Given the description of an element on the screen output the (x, y) to click on. 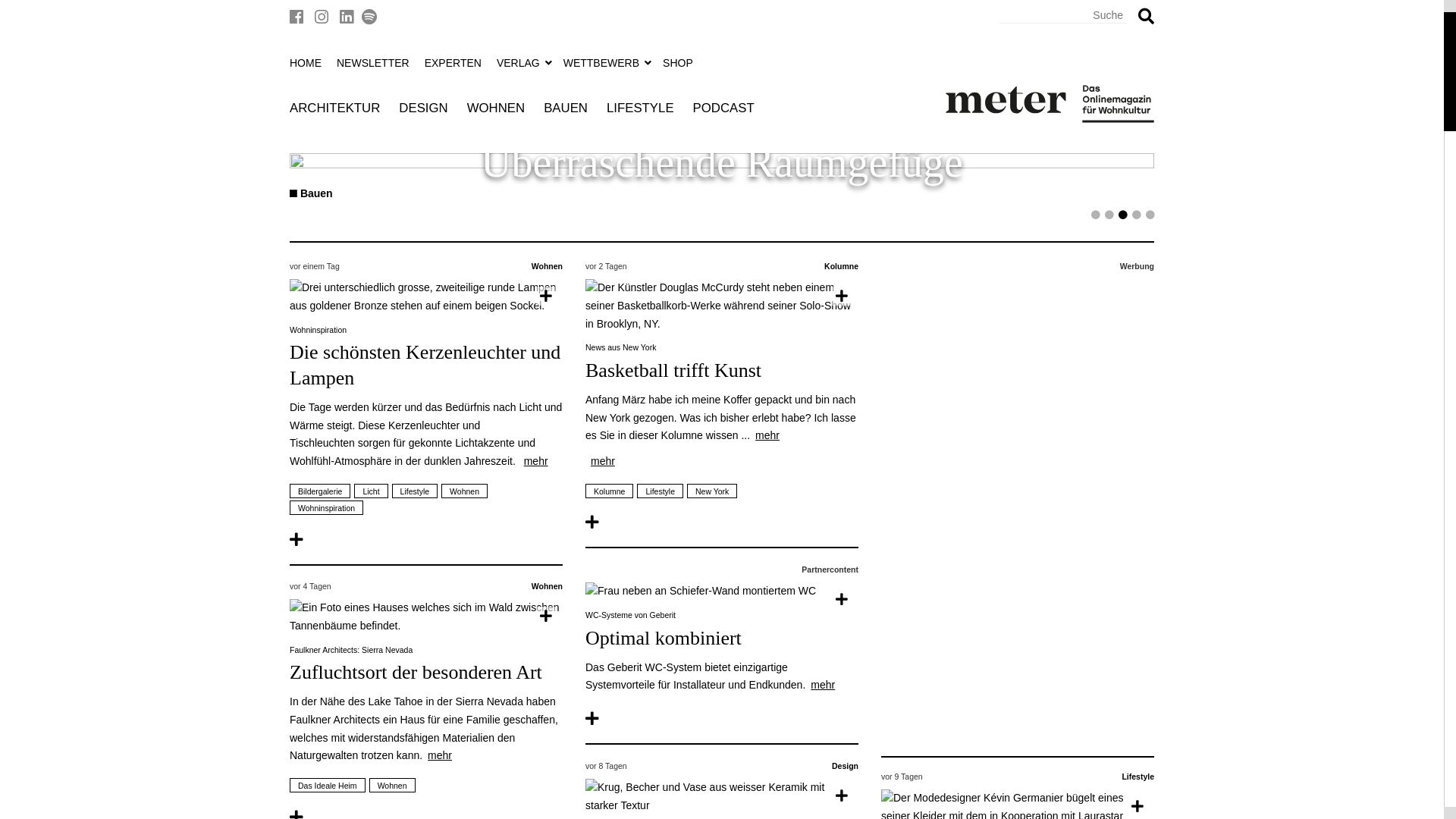
Weiterlesen ... Element type: hover (425, 617)
PODCAST Element type: text (723, 108)
Wohninspiration Element type: text (326, 507)
WC-Systeme von Geberit
Optimal kombiniert Element type: text (721, 630)
Weiterlesen ... Element type: hover (301, 539)
Design Element type: text (844, 765)
NEWSLETTER Element type: text (374, 62)
Weiterlesen ... Element type: hover (597, 522)
Weiterlesen ... Element type: hover (425, 297)
Lifestyle Element type: text (415, 490)
HOME Element type: text (307, 62)
3 Element type: text (1122, 217)
SHOP Element type: text (679, 62)
Wohnen Element type: text (546, 265)
Weiterlesen ... Element type: hover (721, 591)
1 Element type: text (1095, 217)
News aus New York
Basketball trifft Kunst Element type: text (721, 362)
BAUEN Element type: text (565, 108)
Lifestyle Element type: text (1137, 776)
4 Element type: text (1136, 217)
Lifestyle Element type: text (660, 490)
5 Element type: text (1149, 217)
Suchen Element type: text (1146, 16)
Design Element type: text (312, 193)
Kolumne Element type: text (841, 265)
Facettenreiche Gestaltung Element type: text (721, 163)
meter Element type: text (1048, 103)
WOHNEN Element type: text (495, 108)
Bildergalerie Element type: text (319, 490)
Kolumne Element type: text (609, 490)
EXPERTEN Element type: text (454, 62)
Weiterlesen ... Element type: hover (721, 305)
Weiterlesen ... Element type: hover (721, 796)
Wohnen Element type: text (392, 785)
Weiterlesen ... Element type: hover (597, 718)
Licht Element type: text (370, 490)
New York Element type: text (712, 490)
LIFESTYLE Element type: text (640, 108)
Das Ideale Heim Element type: text (327, 785)
2 Element type: text (1109, 217)
Wohnen Element type: text (546, 585)
Wohnen Element type: text (464, 490)
ARCHITEKTUR Element type: text (334, 108)
DESIGN Element type: text (422, 108)
